Given the description of an element on the screen output the (x, y) to click on. 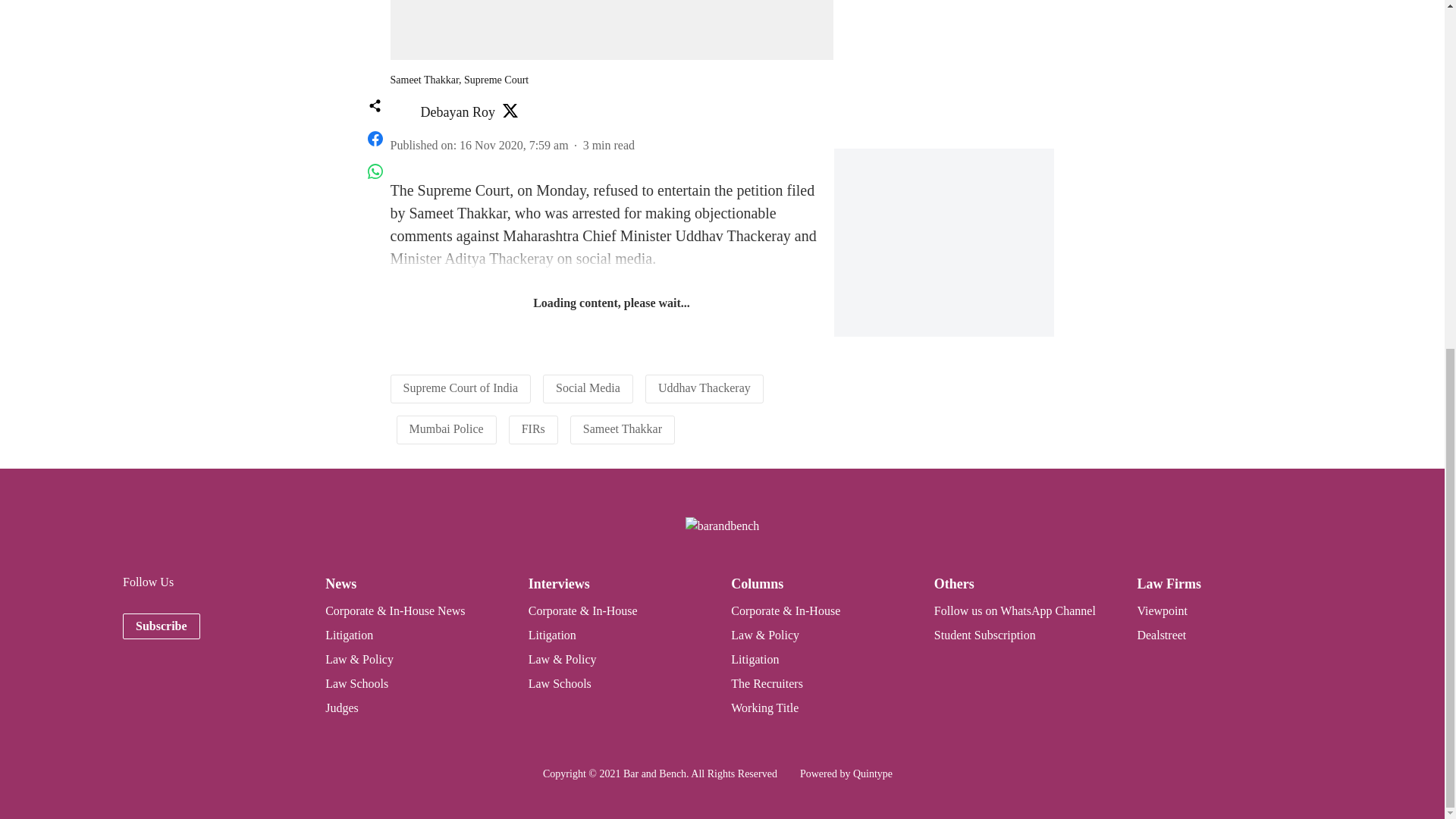
Law Schools (559, 683)
Litigation (552, 634)
Law Schools (356, 683)
Social Media (588, 386)
Debayan Roy (457, 111)
Supreme Court of India (460, 386)
News (340, 583)
Uddhav Thackeray (704, 386)
Interviews (558, 583)
Mumbai Police (446, 427)
2020-11-16 07:59 (514, 144)
Sameet Thakkar (622, 427)
Judges (341, 707)
FIRs (532, 427)
Litigation (348, 634)
